Given the description of an element on the screen output the (x, y) to click on. 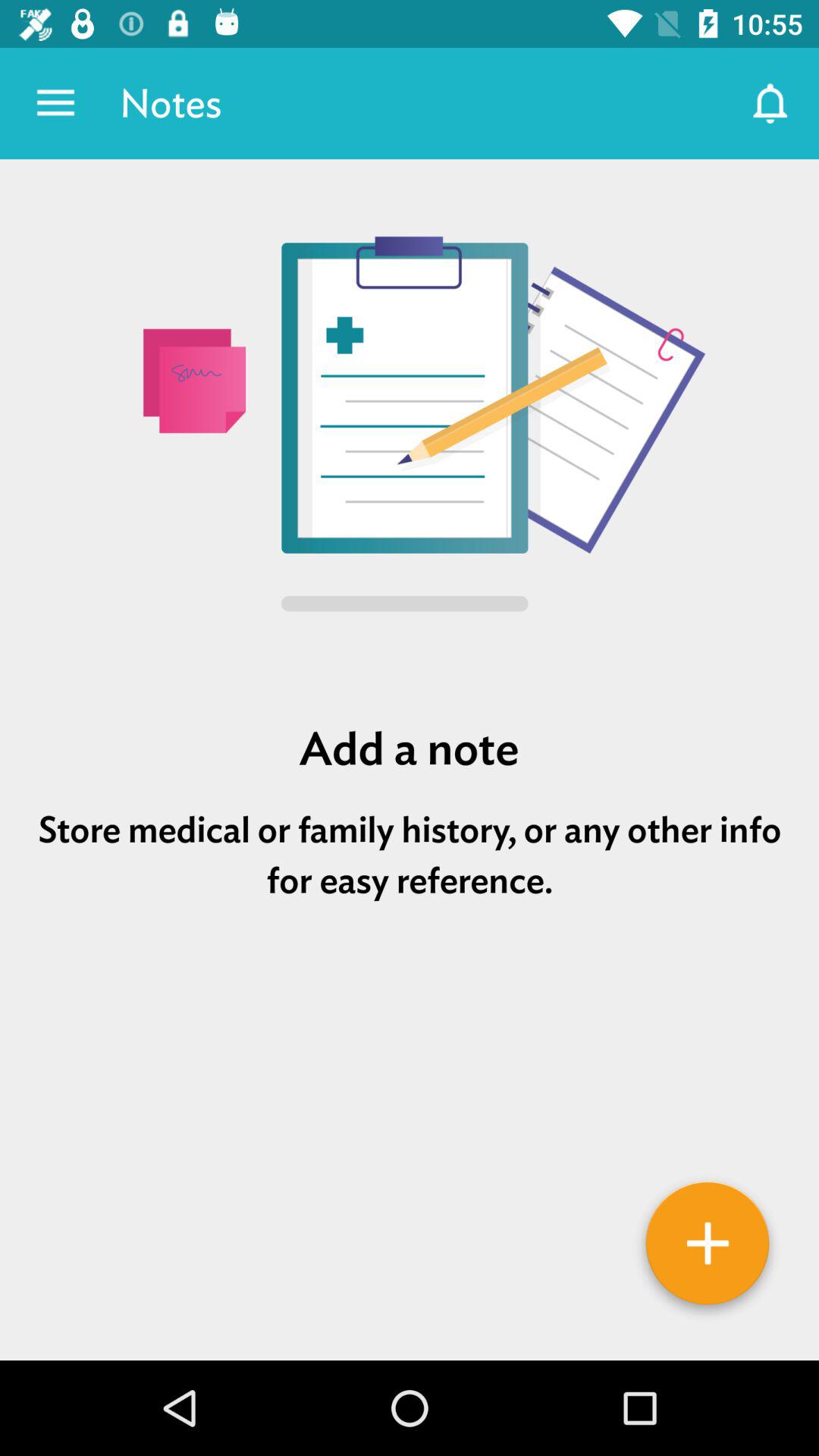
create new note (707, 1248)
